Given the description of an element on the screen output the (x, y) to click on. 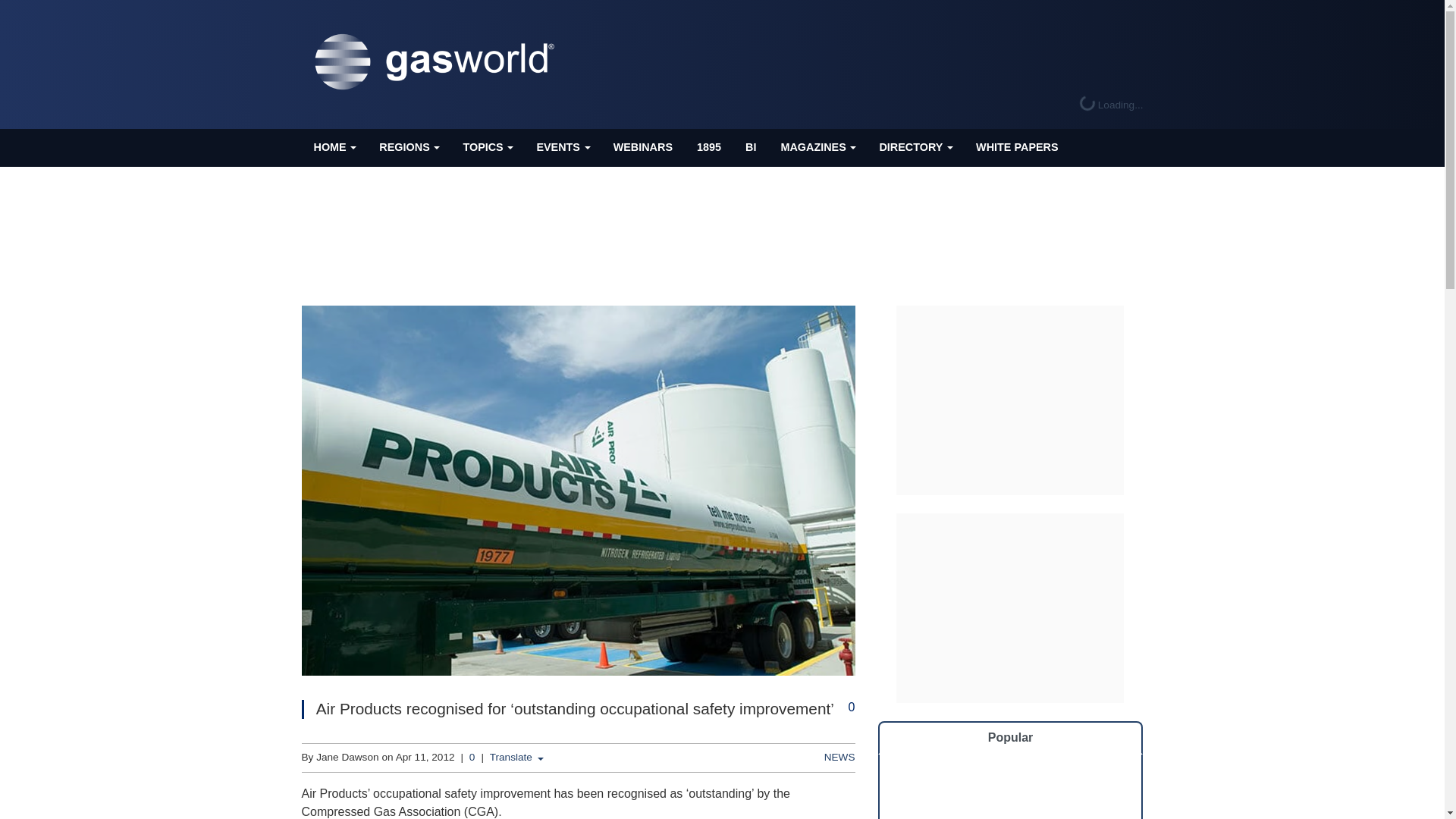
Regions (407, 146)
HOME (334, 146)
gasworld (438, 62)
REGIONS (407, 146)
Home (334, 146)
TOPICS (486, 146)
Topics (486, 146)
